Given the description of an element on the screen output the (x, y) to click on. 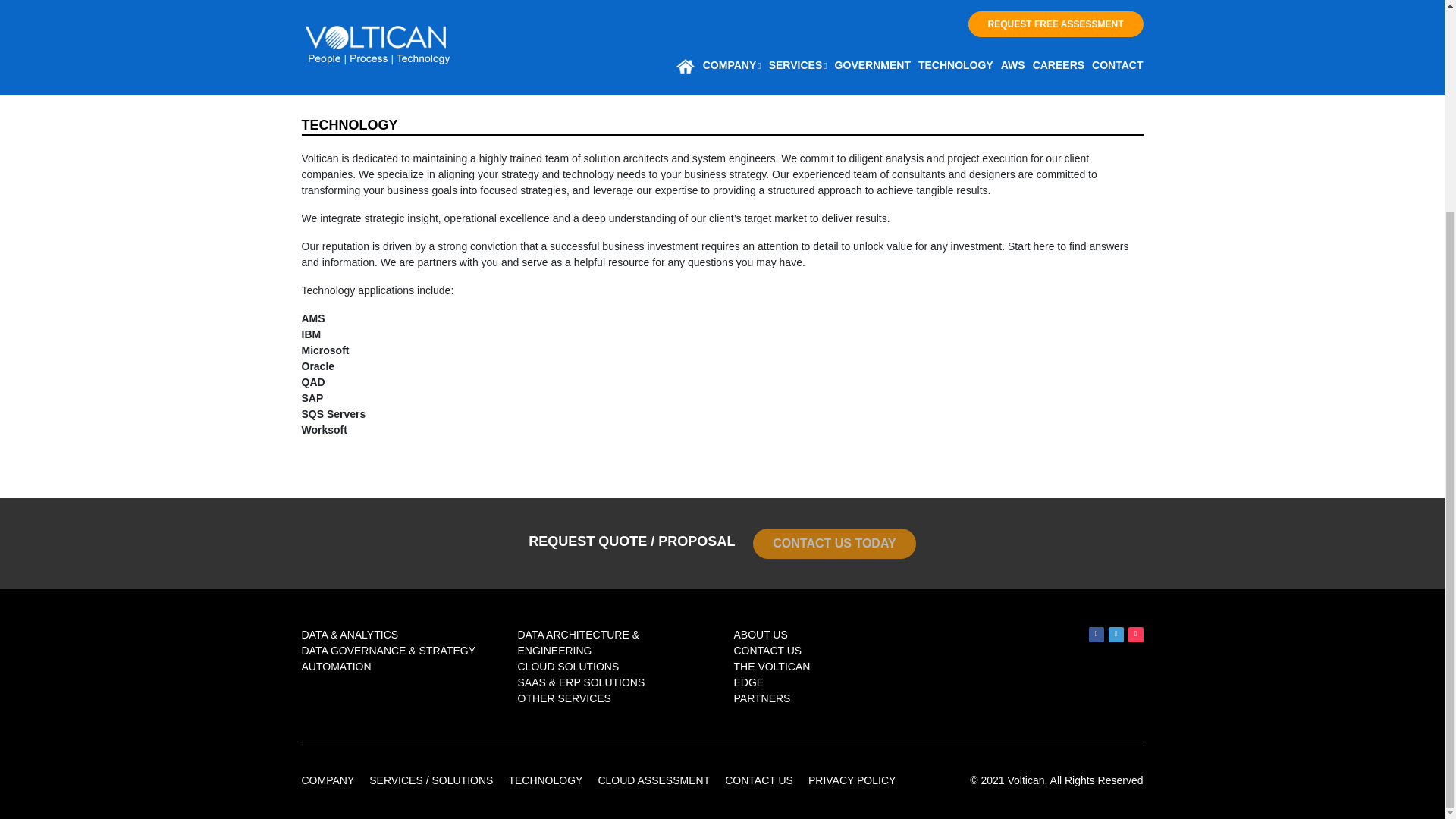
CLOUD SOLUTIONS (567, 666)
OTHER SERVICES (563, 698)
AUTOMATION (336, 666)
CONTACT US (767, 650)
ABOUT US (760, 634)
COMPANY (328, 779)
PARTNERS (761, 698)
CONTACT US TODAY (833, 543)
THE VOLTICAN EDGE (771, 674)
